Given the description of an element on the screen output the (x, y) to click on. 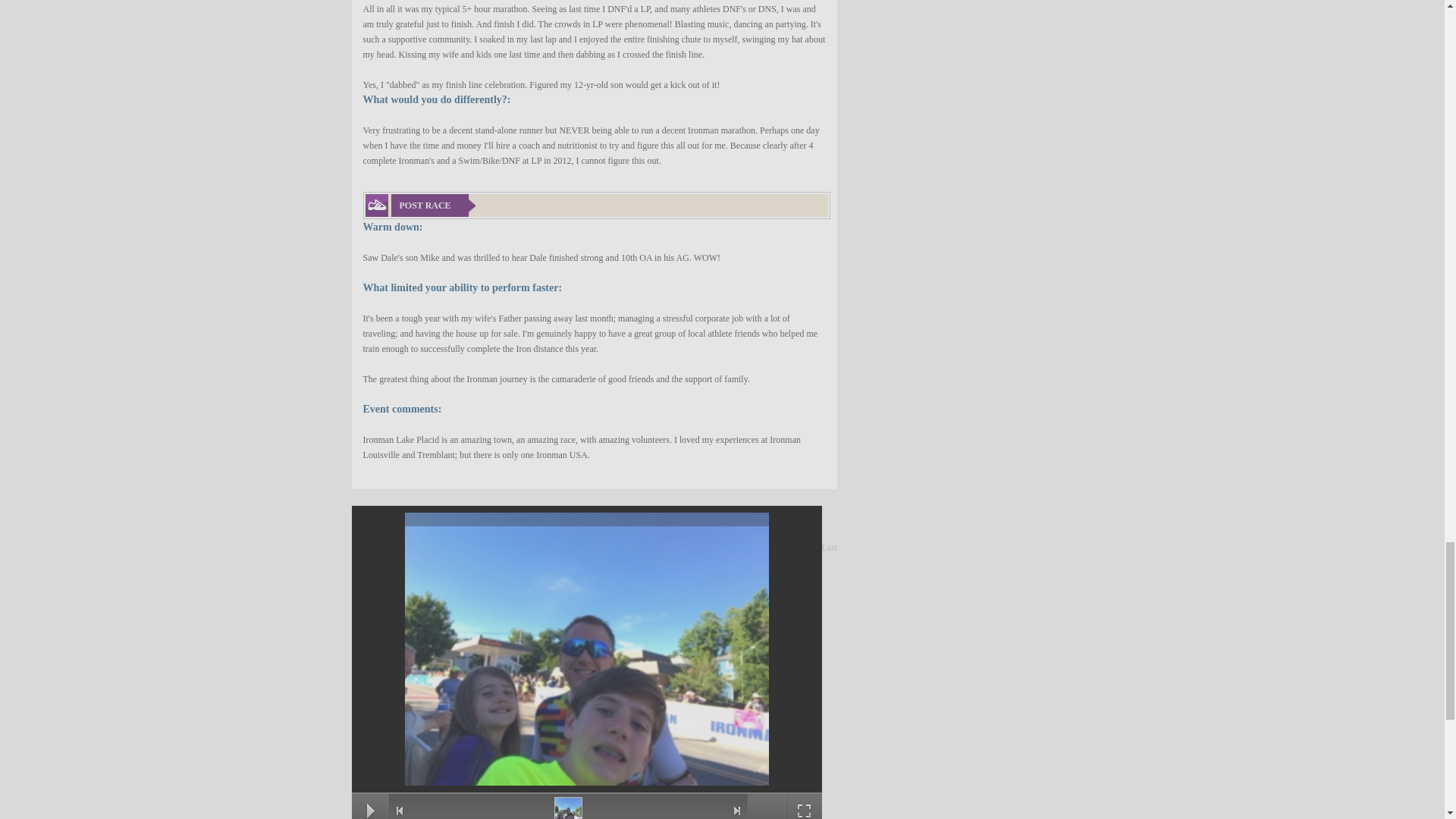
Maximize (803, 810)
Previous Page (399, 810)
Powered by TN3 Gallery (765, 810)
Start Slideshow (370, 810)
Next Page (737, 810)
